Given the description of an element on the screen output the (x, y) to click on. 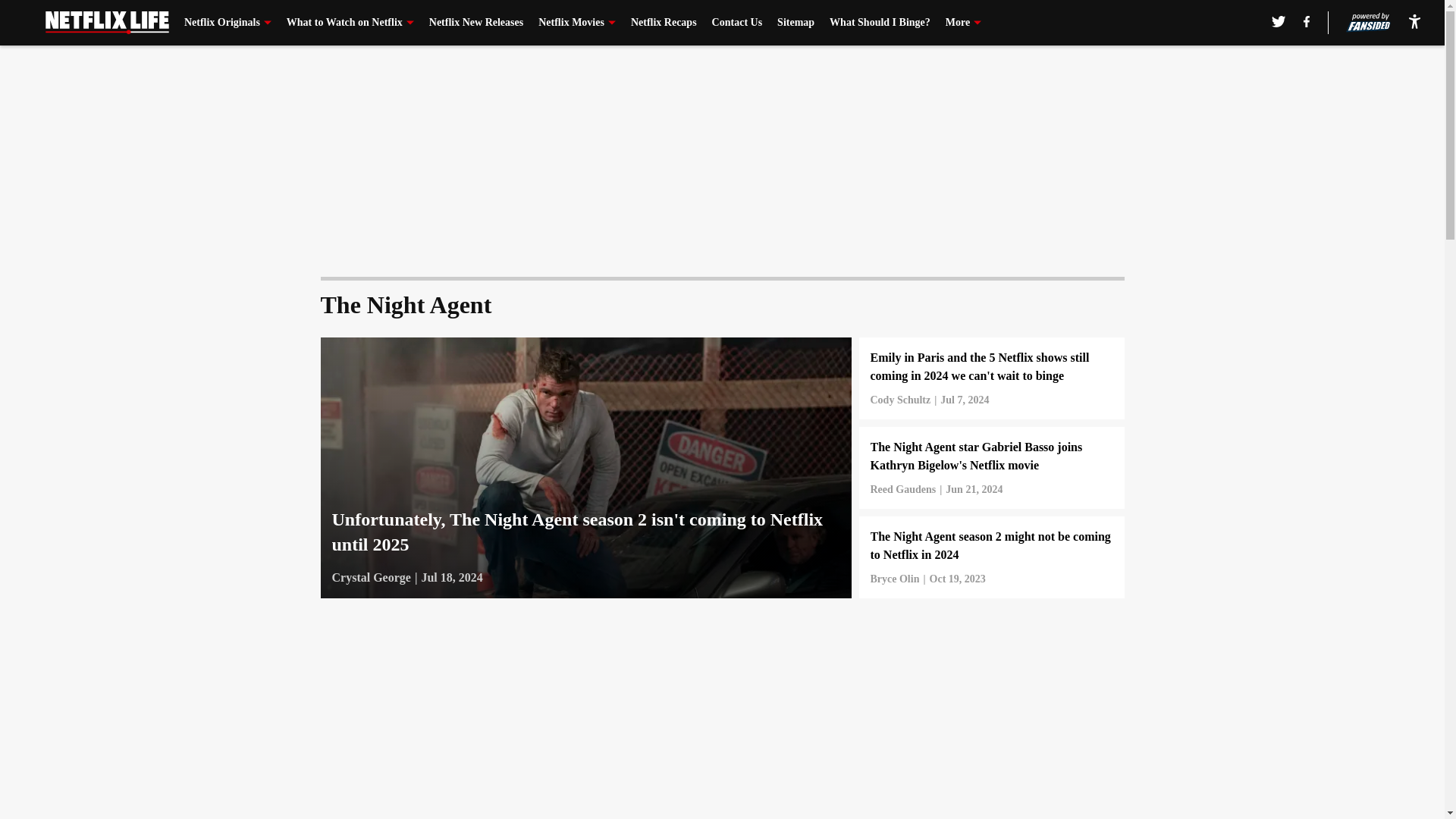
Crystal George (370, 577)
Cody Schultz (900, 400)
Reed Gaudens (903, 489)
Netflix Movies (576, 22)
What to Watch on Netflix (349, 22)
Netflix New Releases (475, 22)
Netflix Originals (227, 22)
